Given the description of an element on the screen output the (x, y) to click on. 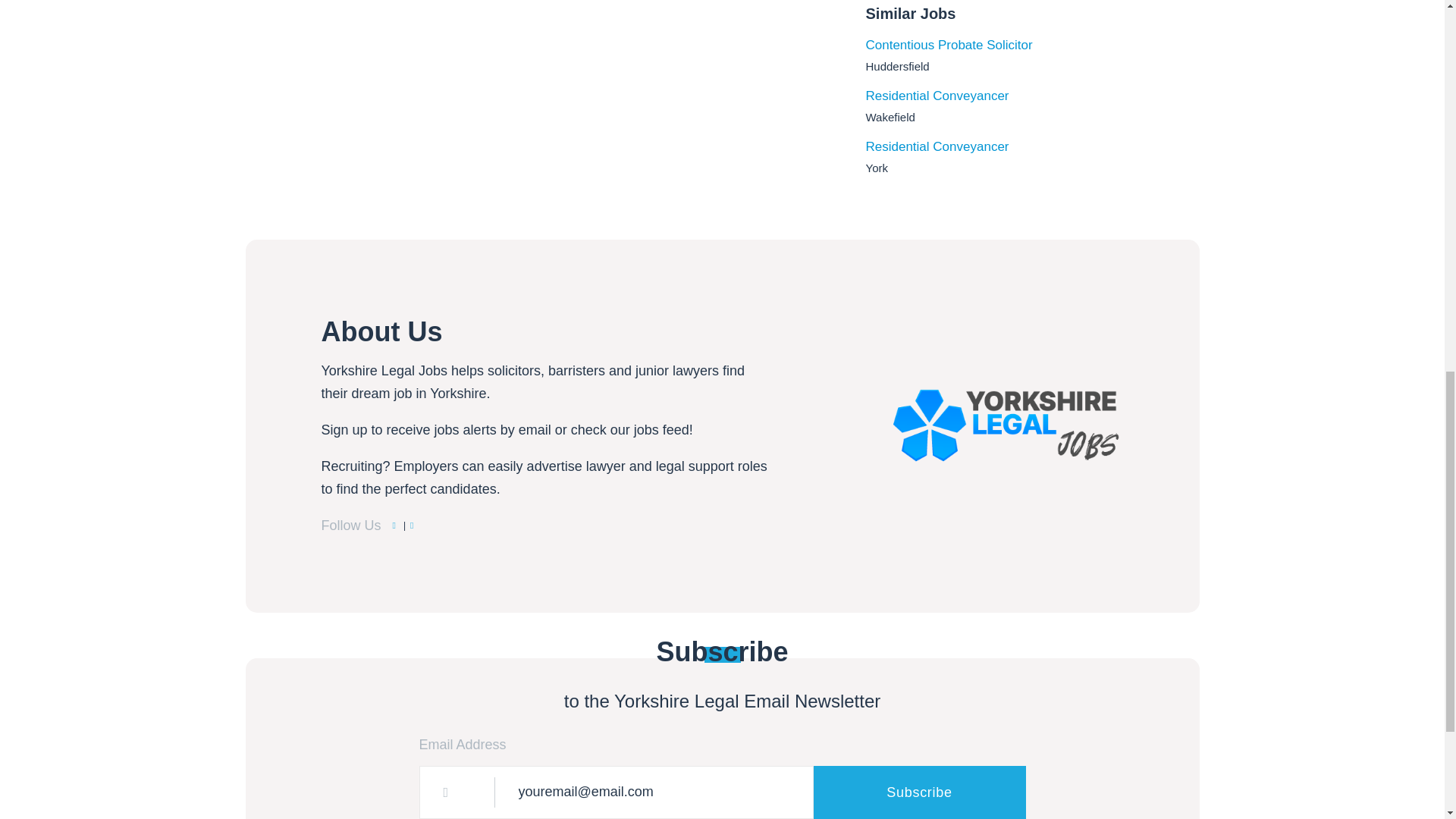
Subscribe (918, 792)
